Given the description of an element on the screen output the (x, y) to click on. 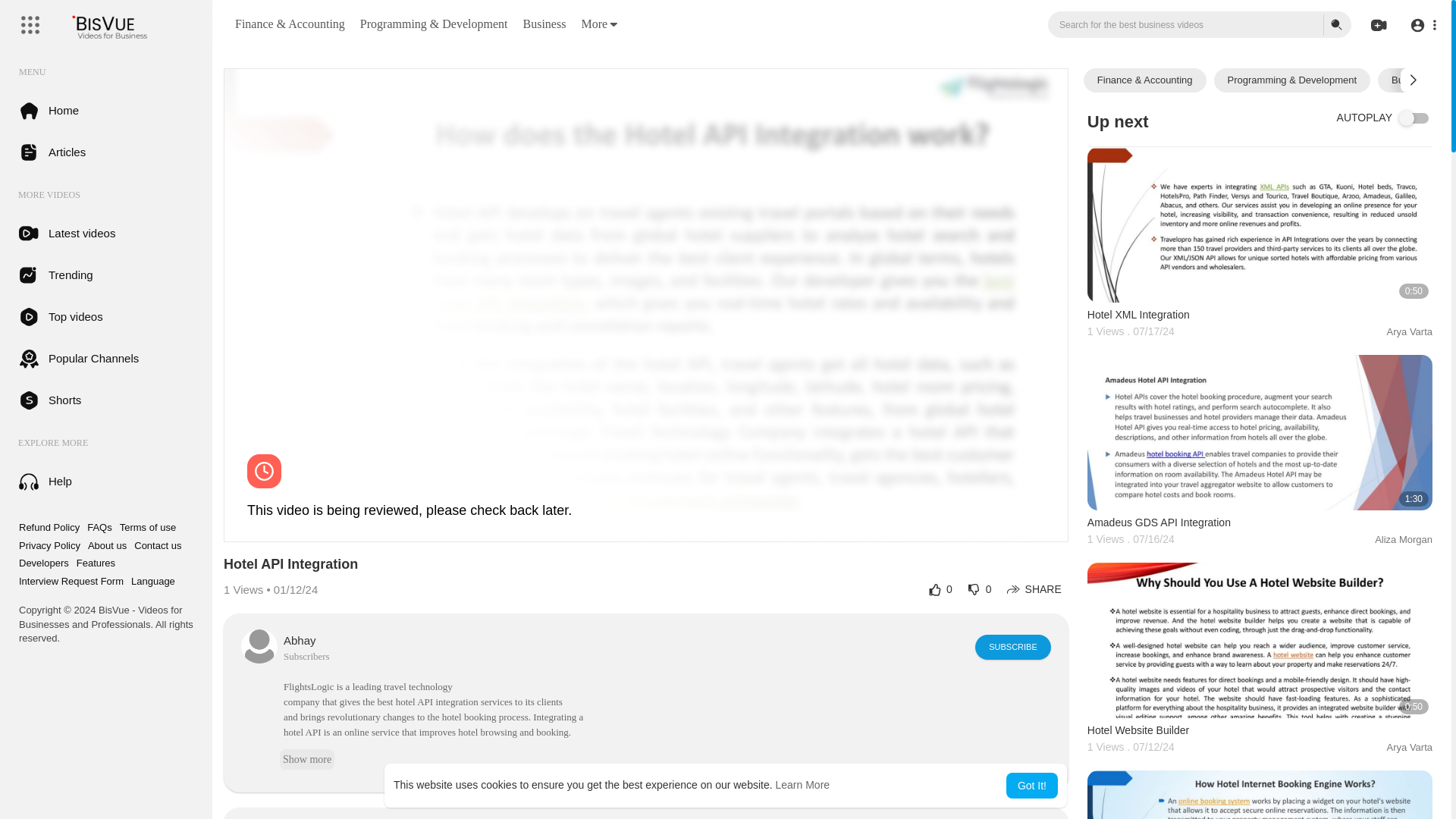
Business (544, 24)
Home (106, 110)
Got It! (1032, 785)
Learn More (802, 784)
Articles (106, 151)
More (599, 22)
Trending (106, 274)
Latest videos (106, 232)
